Given the description of an element on the screen output the (x, y) to click on. 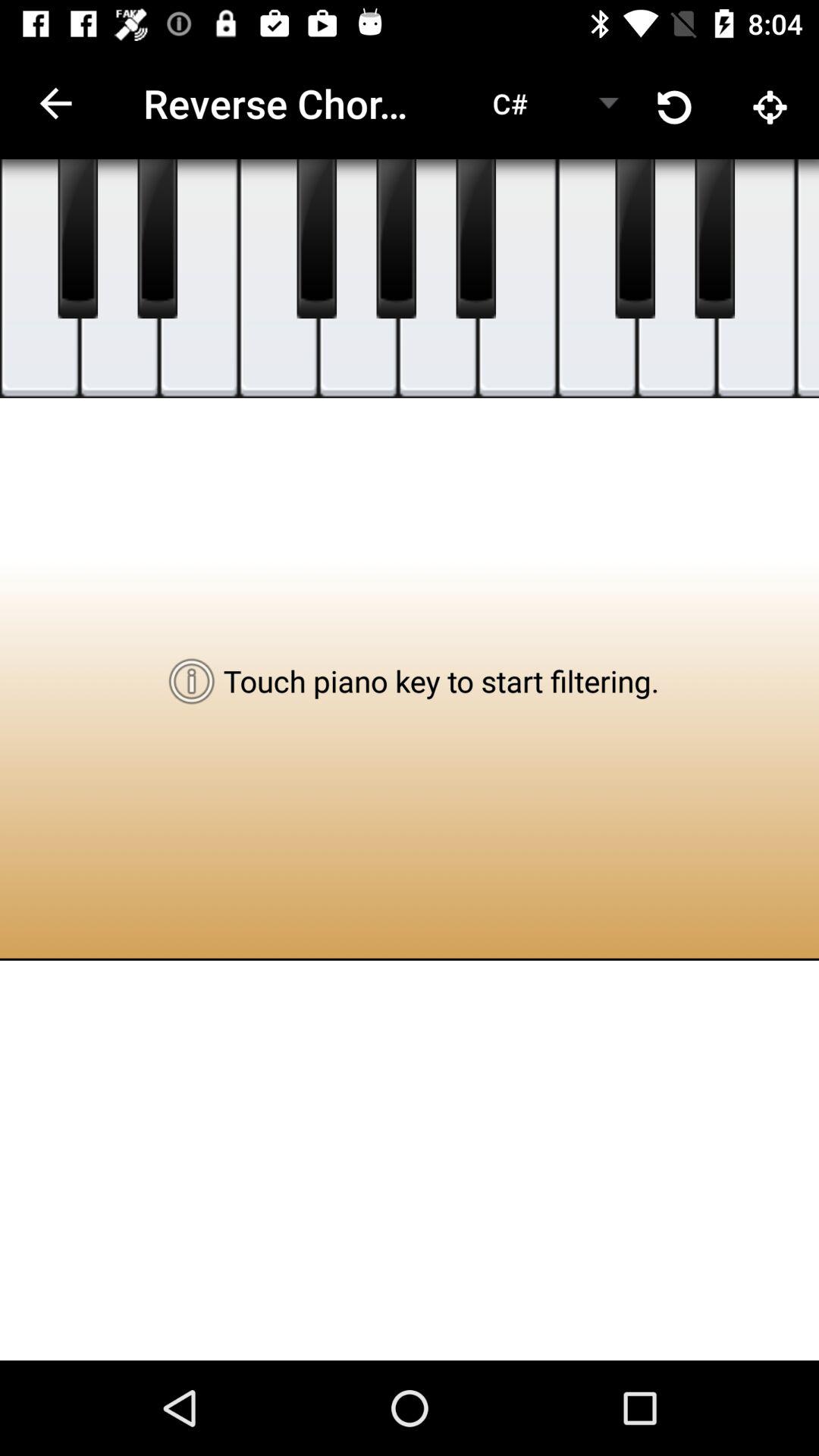
piano key (517, 278)
